Given the description of an element on the screen output the (x, y) to click on. 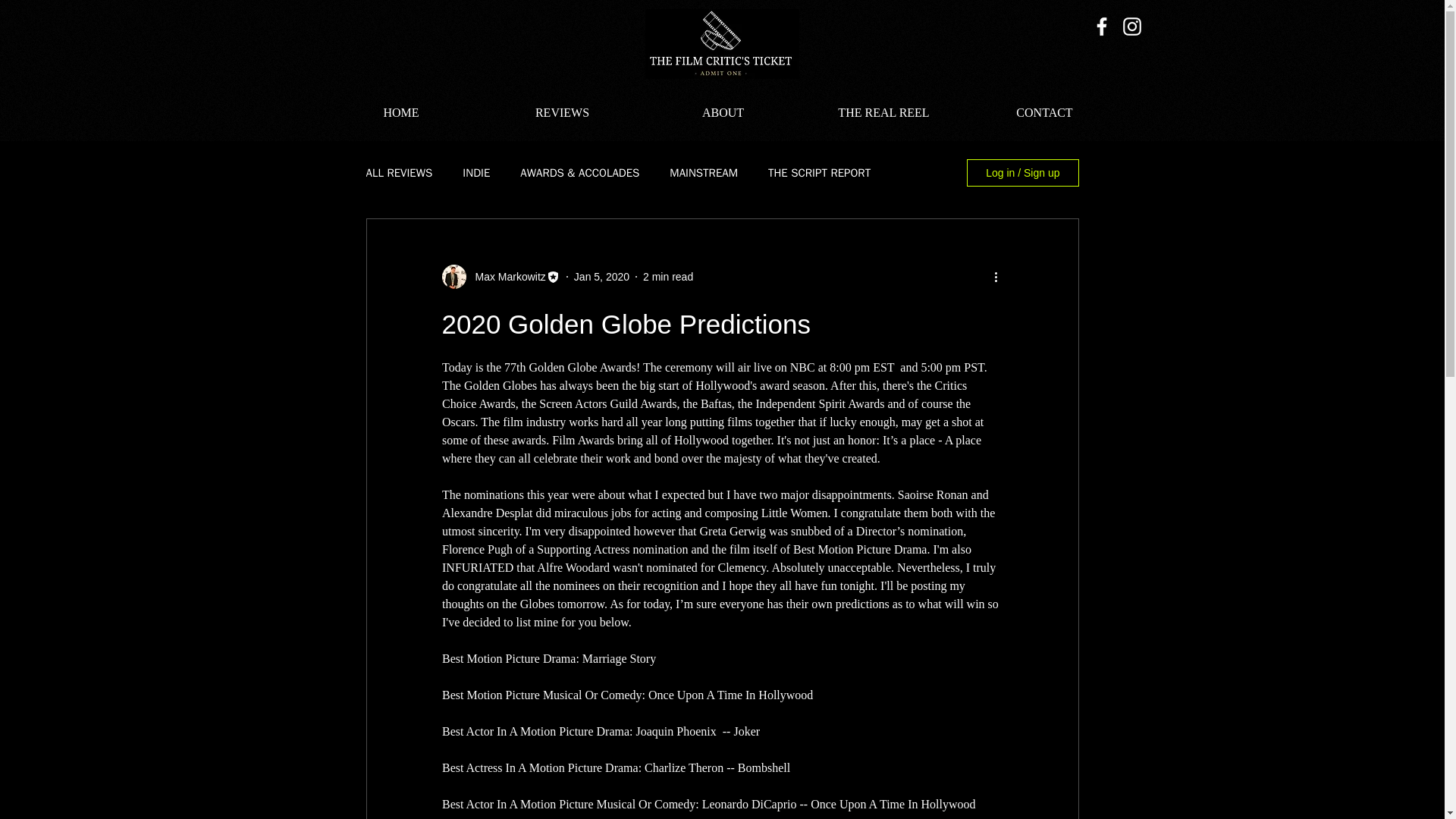
THE SCRIPT REPORT (819, 172)
Jan 5, 2020 (600, 275)
MAINSTREAM (703, 172)
INDIE (476, 172)
CONTACT (1044, 112)
Max Markowitz (504, 276)
THE REAL REEL (883, 112)
ABOUT (723, 112)
ALL REVIEWS (398, 172)
2 min read (668, 275)
REVIEWS (562, 112)
HOME (400, 112)
